Given the description of an element on the screen output the (x, y) to click on. 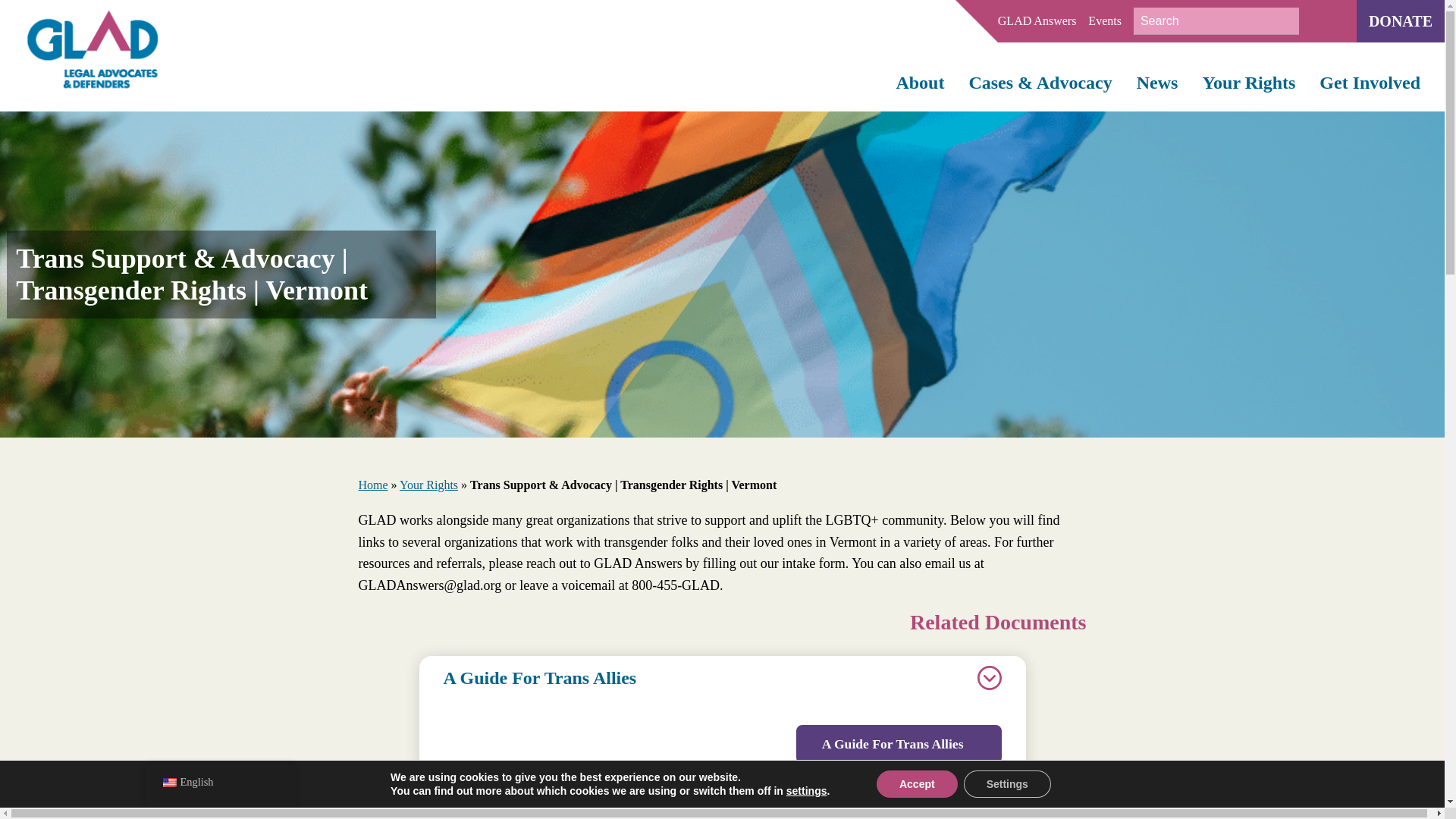
Your Rights (1248, 82)
Get Involved (1370, 82)
DONATE (1400, 21)
English (168, 782)
About (919, 82)
GLAD Answers (1037, 21)
News (1157, 82)
